Given the description of an element on the screen output the (x, y) to click on. 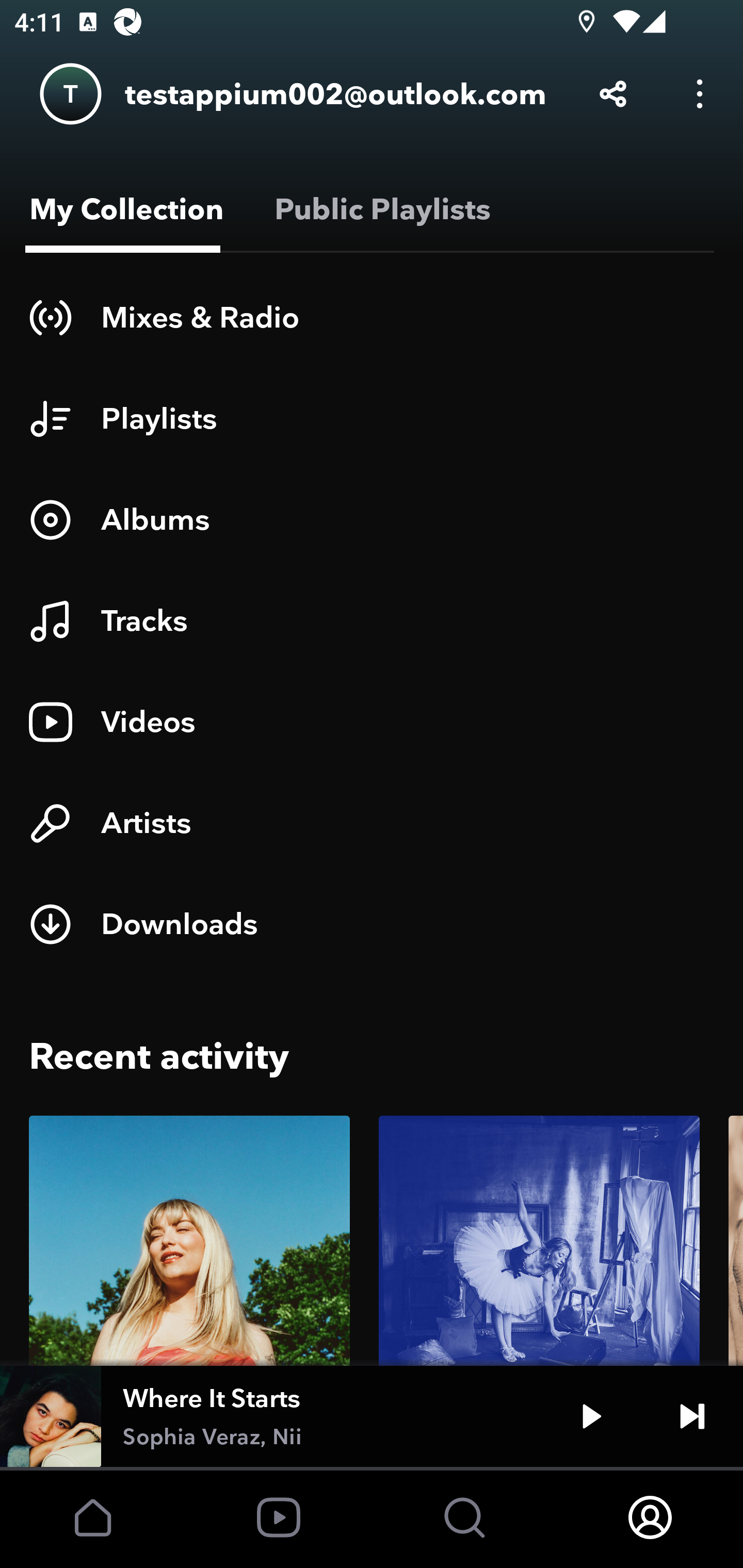
Share (612, 93)
Options (699, 93)
Public Playlists (378, 209)
Mixes & Radio (371, 317)
Playlists (371, 418)
Albums (371, 519)
Tracks (371, 620)
Videos (371, 722)
Artists (371, 823)
Downloads (371, 924)
Where It Starts Sophia Veraz, Nii Play (371, 1416)
Play (590, 1416)
